Given the description of an element on the screen output the (x, y) to click on. 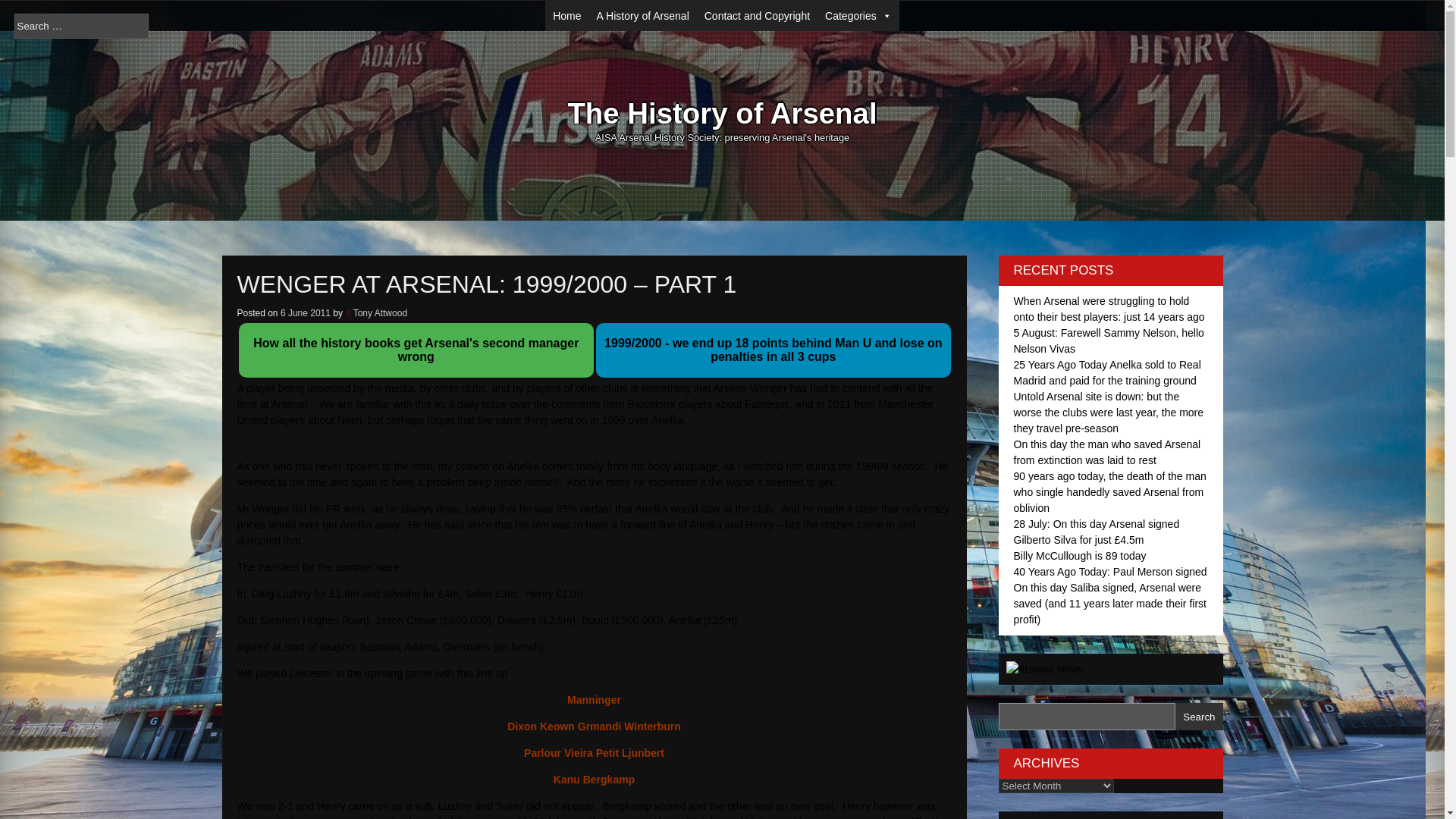
How all the history books get Arsenal's second manager wrong (416, 349)
Home (566, 15)
How all the history books get Arsenal's second manager wrong (415, 356)
A History of Arsenal (643, 15)
How all the history books get Arsenal's second manager wrong (415, 356)
Tony Attwood (380, 312)
6 June 2011 (305, 312)
The History of Arsenal (721, 115)
